Given the description of an element on the screen output the (x, y) to click on. 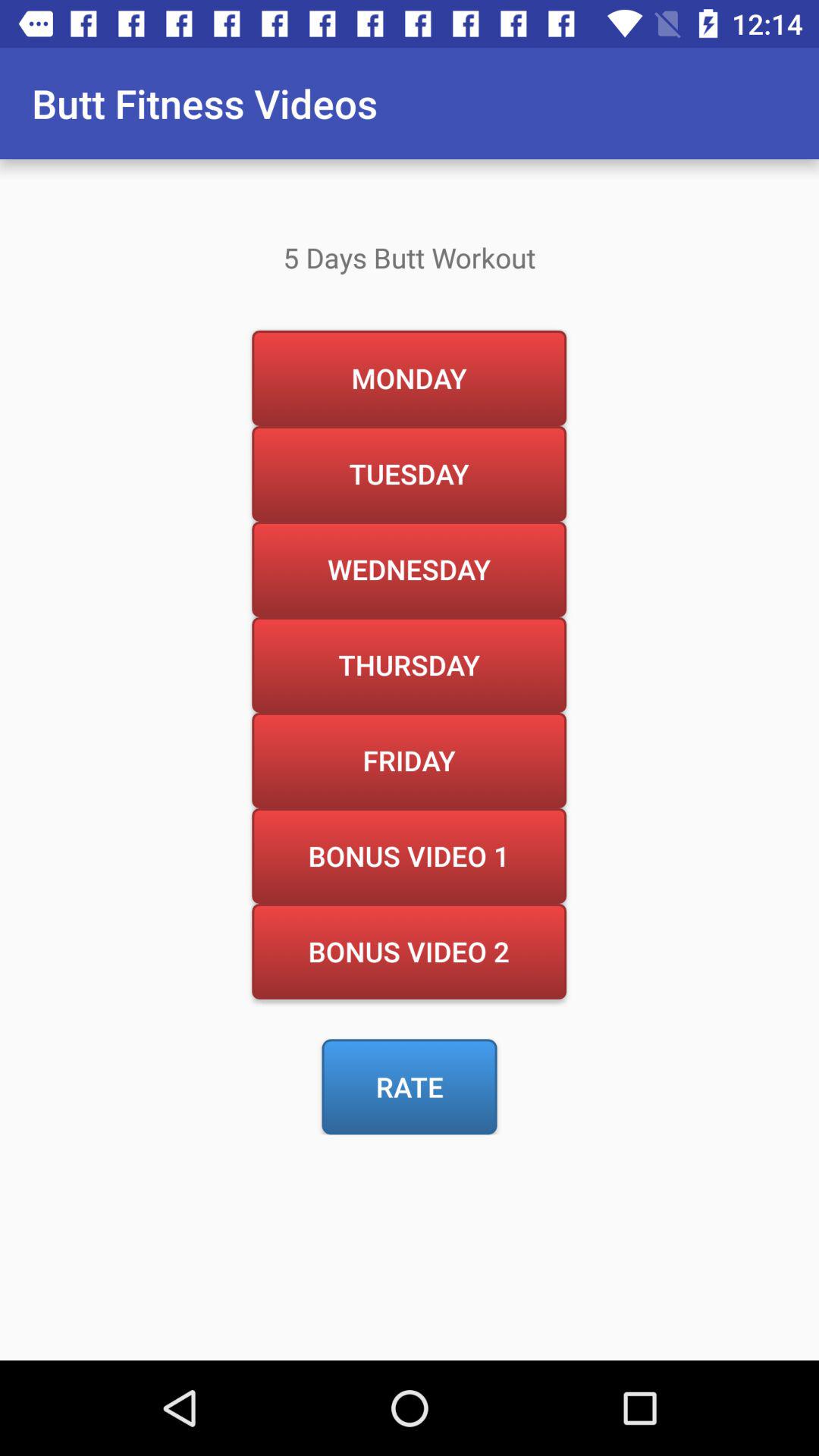
tap rate icon (409, 1086)
